Given the description of an element on the screen output the (x, y) to click on. 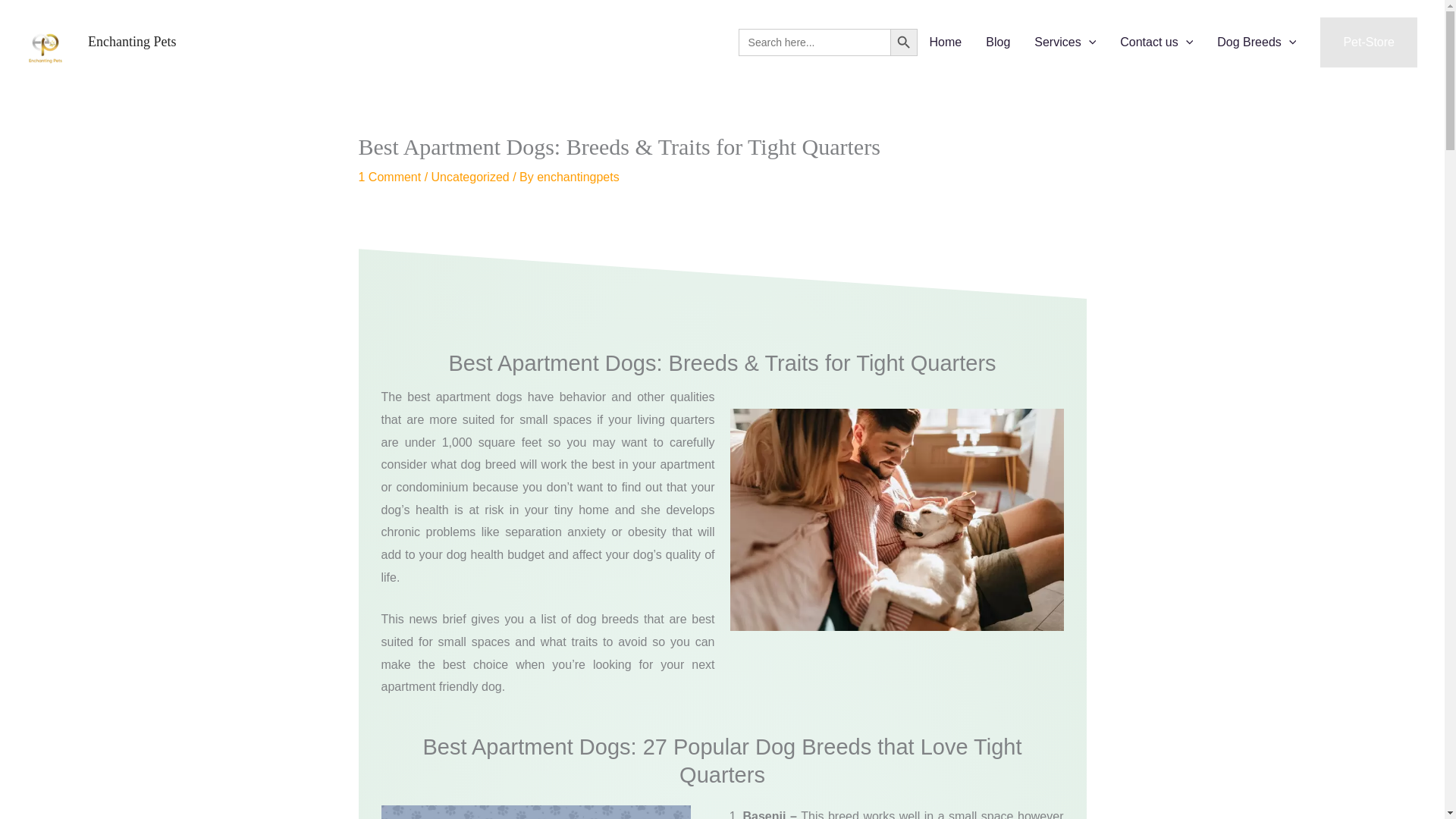
Services (1065, 42)
Enchanting Pets (131, 41)
Home (945, 42)
enchantingpets (578, 176)
best apartment dogs (535, 812)
Uncategorized (469, 176)
1 Comment (389, 176)
Contact us (1156, 42)
Blog (998, 42)
Dog Breeds (1256, 42)
Pet-Store (1368, 42)
View all posts by enchantingpets (578, 176)
Search Button (903, 42)
